Given the description of an element on the screen output the (x, y) to click on. 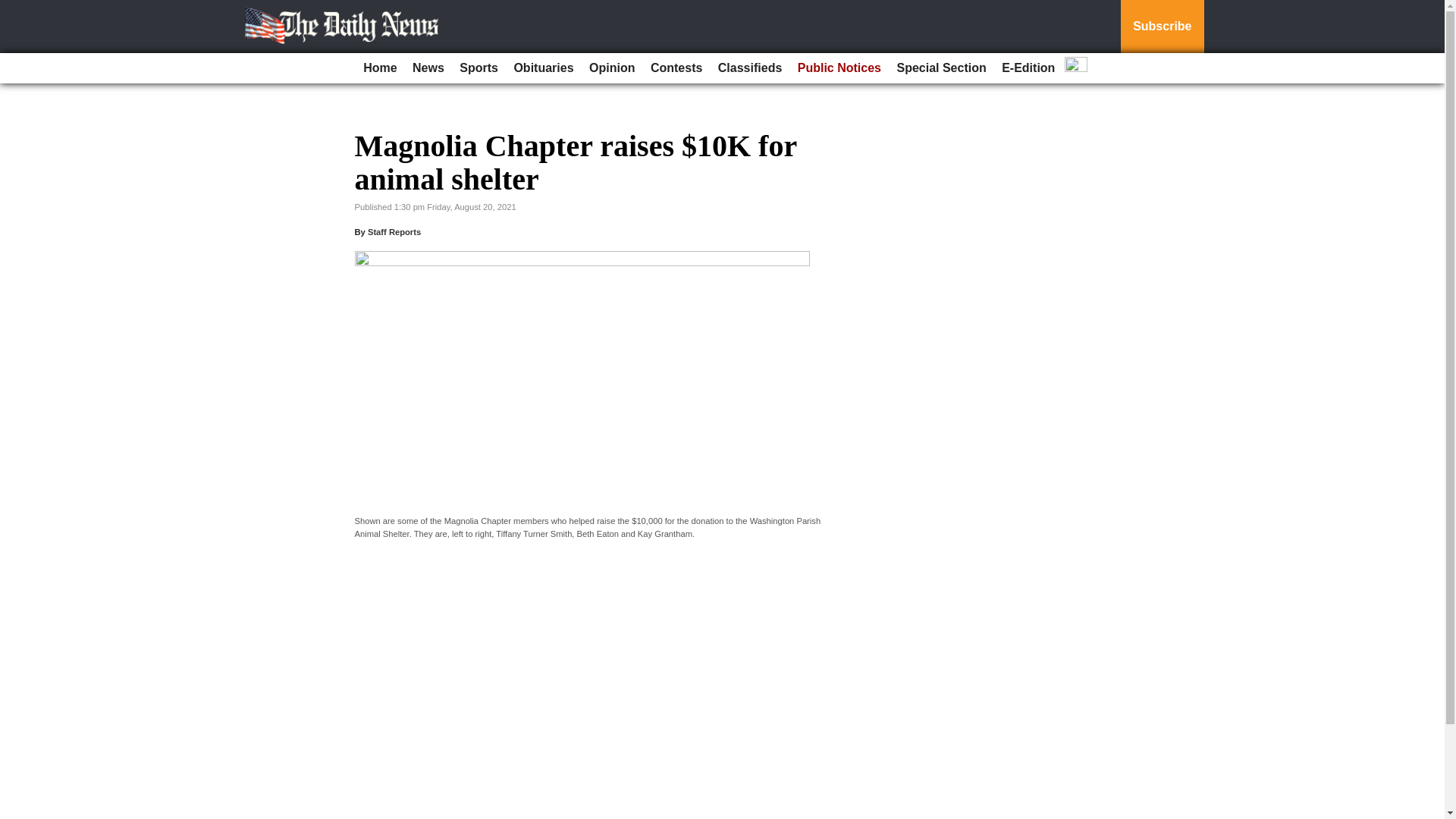
Contests (676, 68)
E-Edition (1028, 68)
Special Section (940, 68)
Obituaries (542, 68)
Staff Reports (394, 231)
Subscribe (1162, 26)
Sports (477, 68)
Home (379, 68)
Opinion (611, 68)
Go (13, 9)
